Given the description of an element on the screen output the (x, y) to click on. 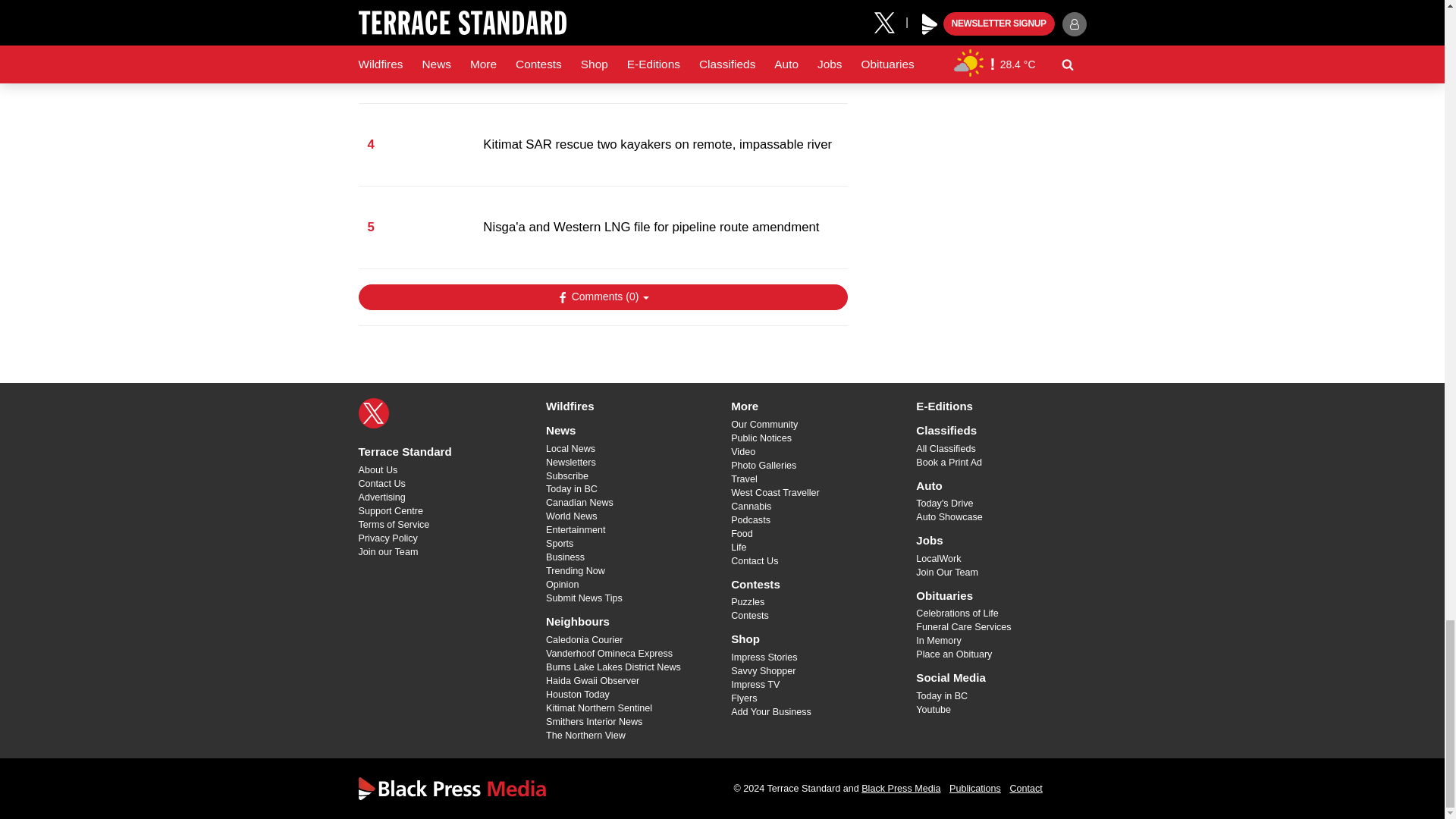
Show Comments (602, 297)
X (373, 413)
